Given the description of an element on the screen output the (x, y) to click on. 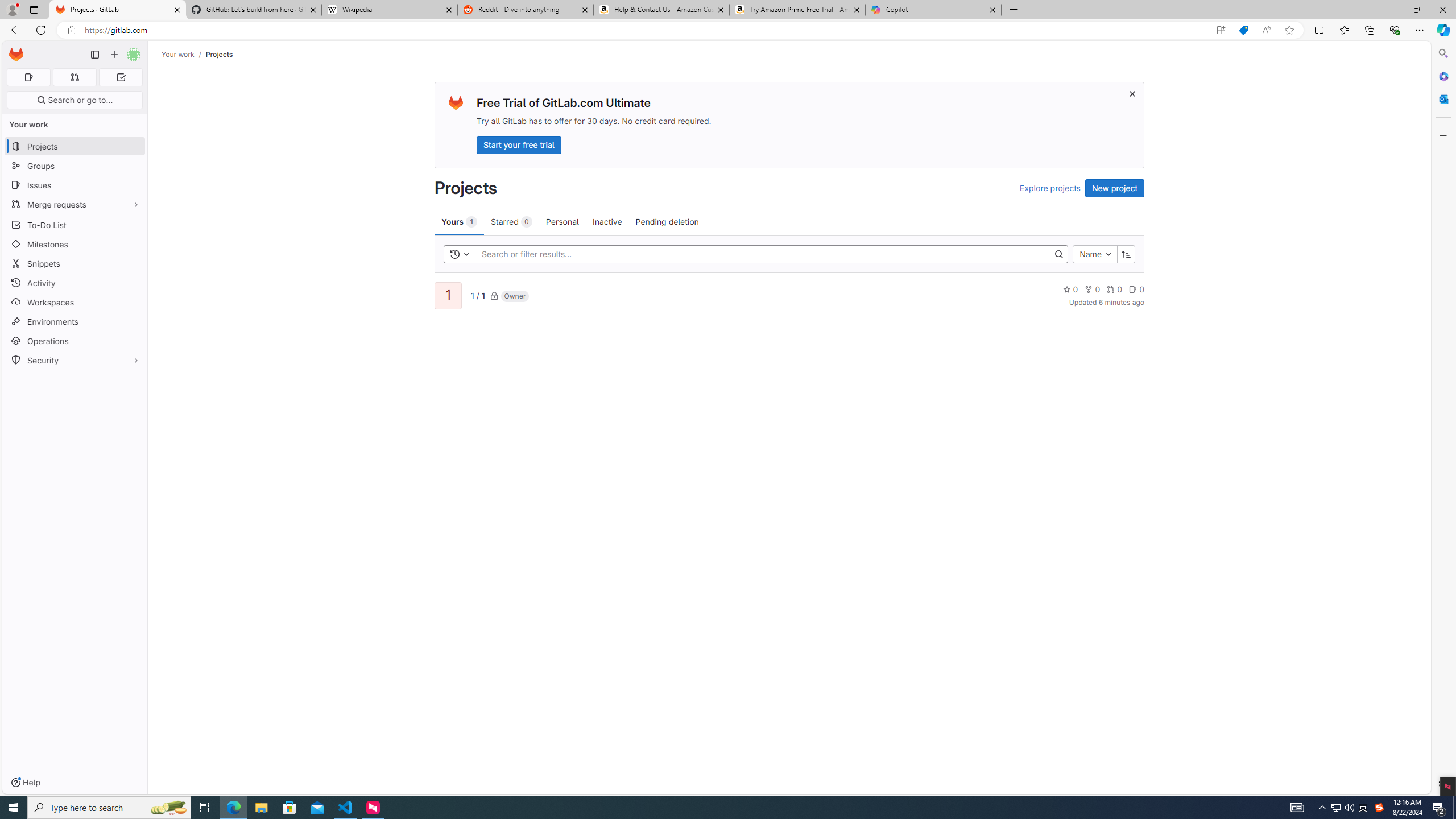
Snippets (74, 262)
Primary navigation sidebar (94, 54)
1 (447, 295)
Your work (178, 53)
Milestones (74, 244)
0 (1136, 288)
Merge requests (74, 203)
Class: s16 gl-icon gl-button-icon  (1132, 93)
To-Do List (74, 224)
